Given the description of an element on the screen output the (x, y) to click on. 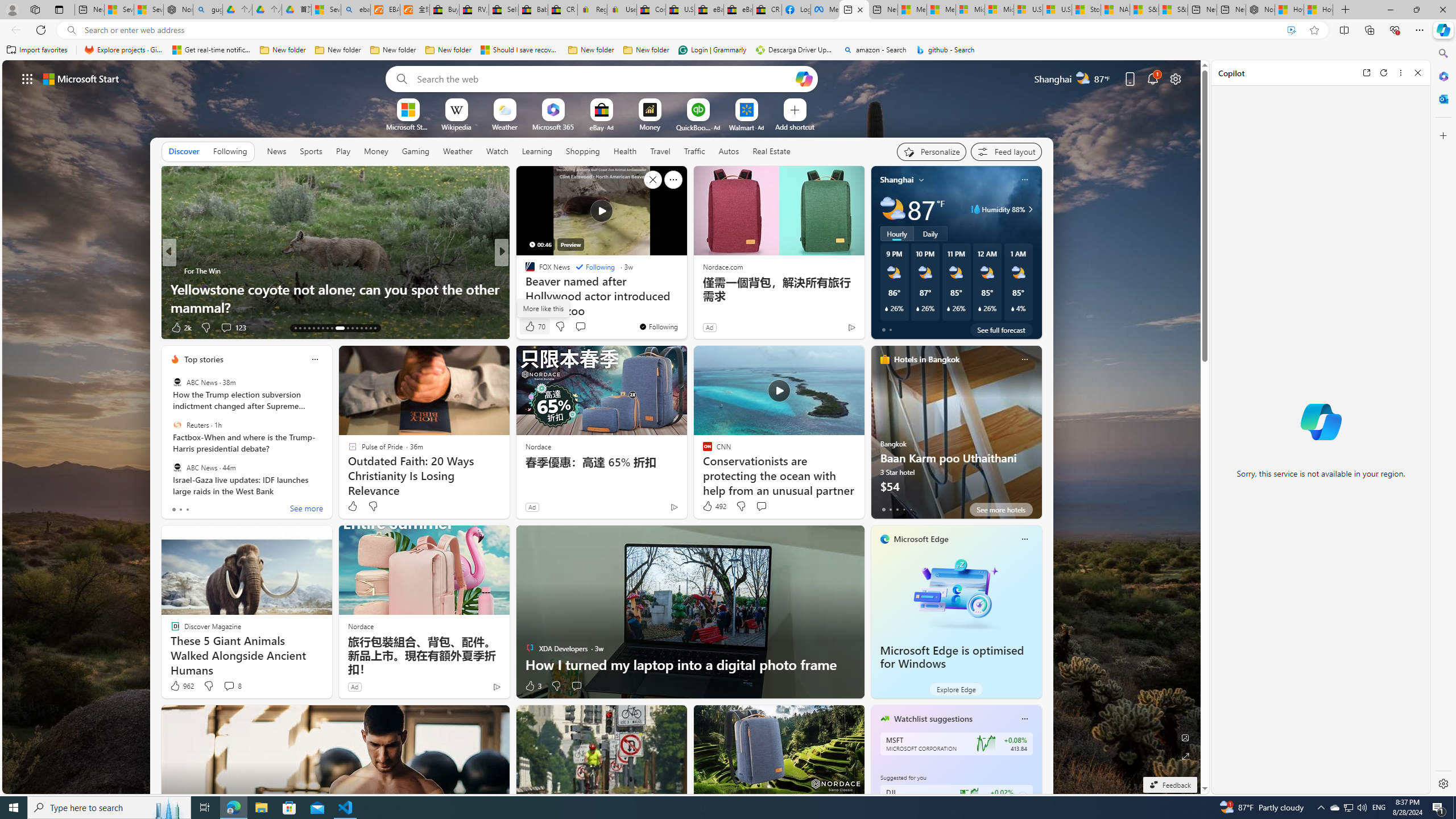
Outlook (1442, 98)
70 Like (534, 326)
Top stories (203, 359)
Meta Store (825, 9)
AutomationID: tab-35 (374, 328)
View comments 24 Comment (580, 327)
